Given the description of an element on the screen output the (x, y) to click on. 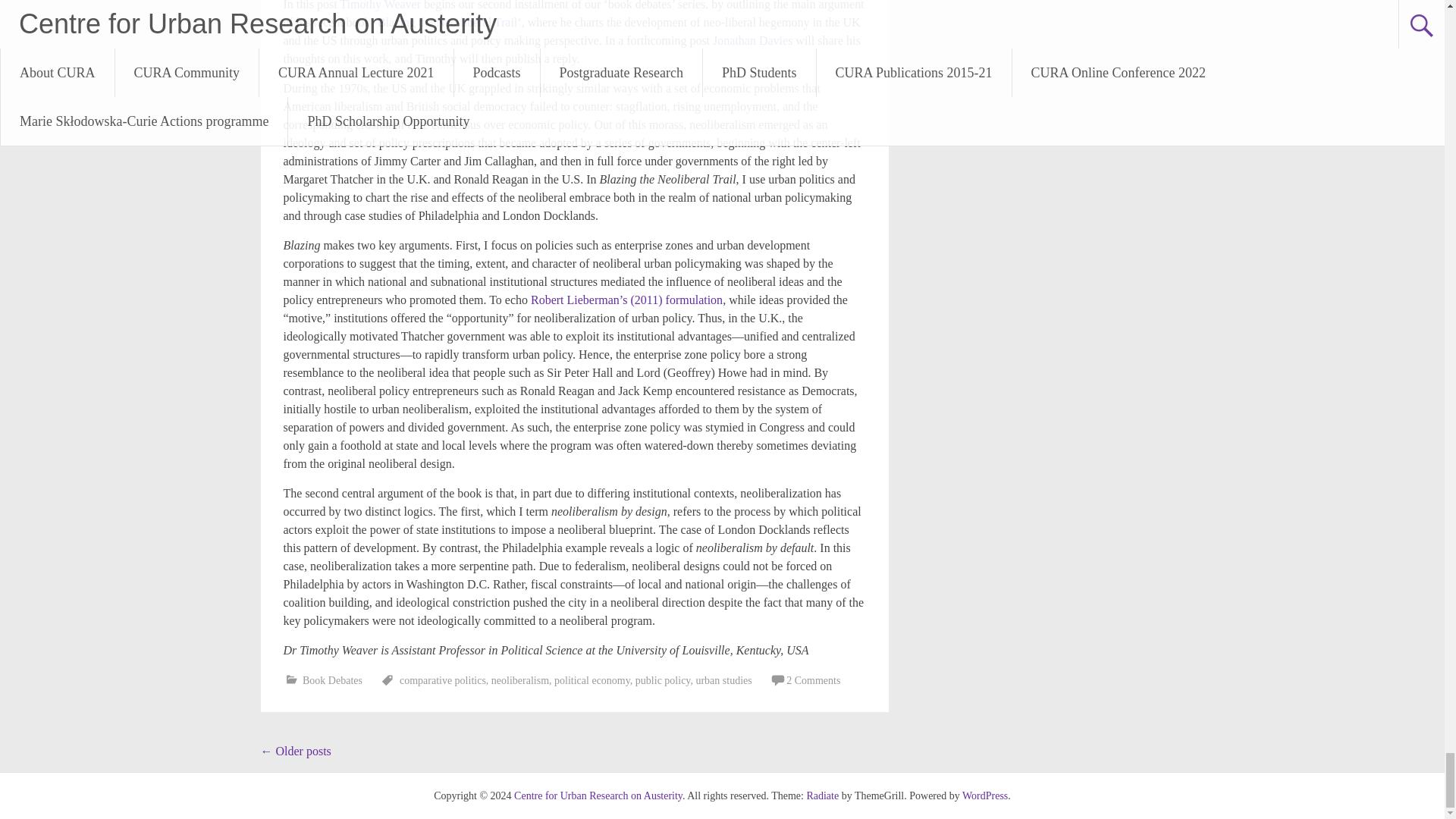
Centre for Urban Research on Austerity (597, 795)
WordPress (984, 795)
Radiate (822, 795)
